Given the description of an element on the screen output the (x, y) to click on. 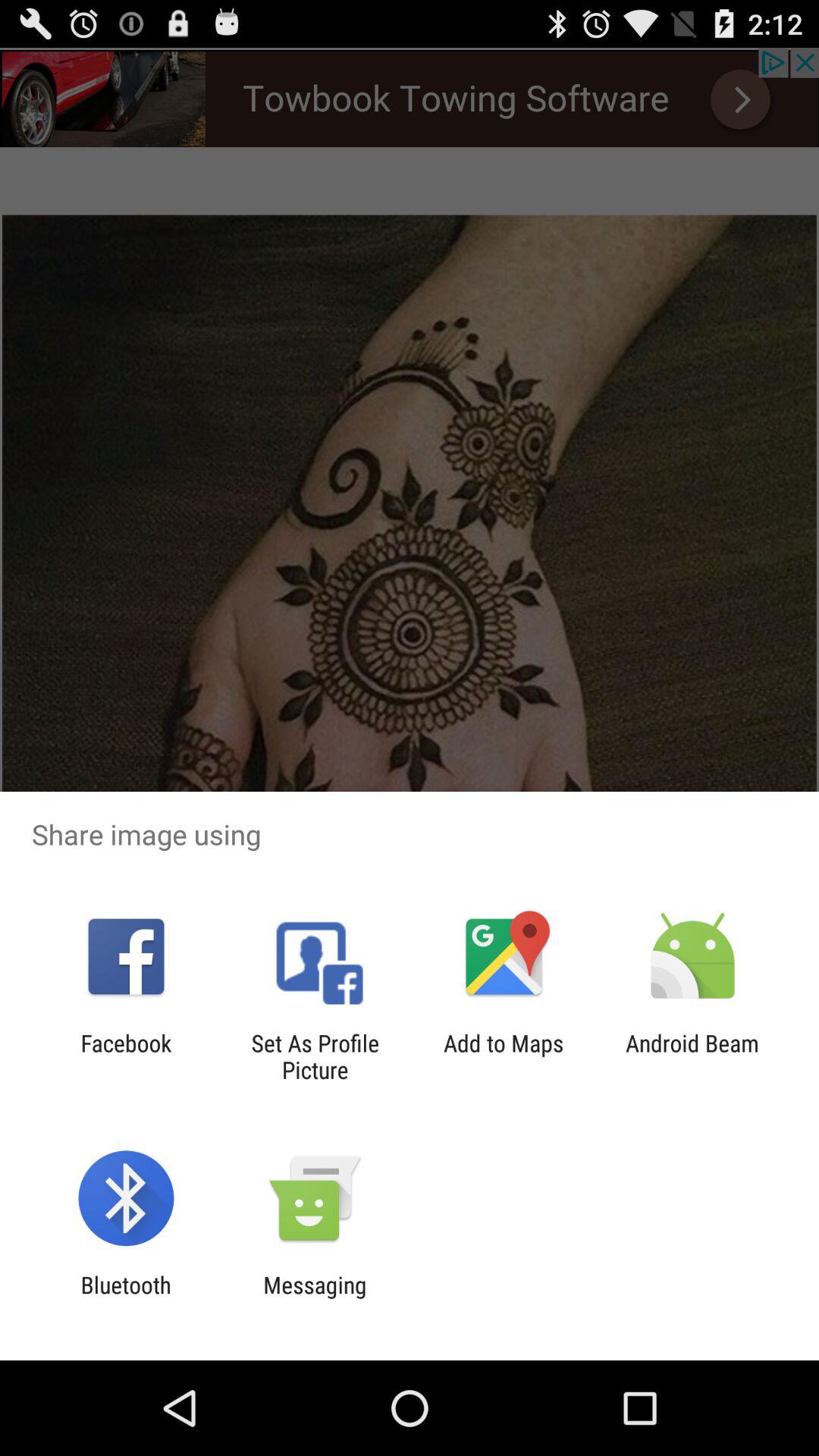
flip to the messaging icon (314, 1298)
